Given the description of an element on the screen output the (x, y) to click on. 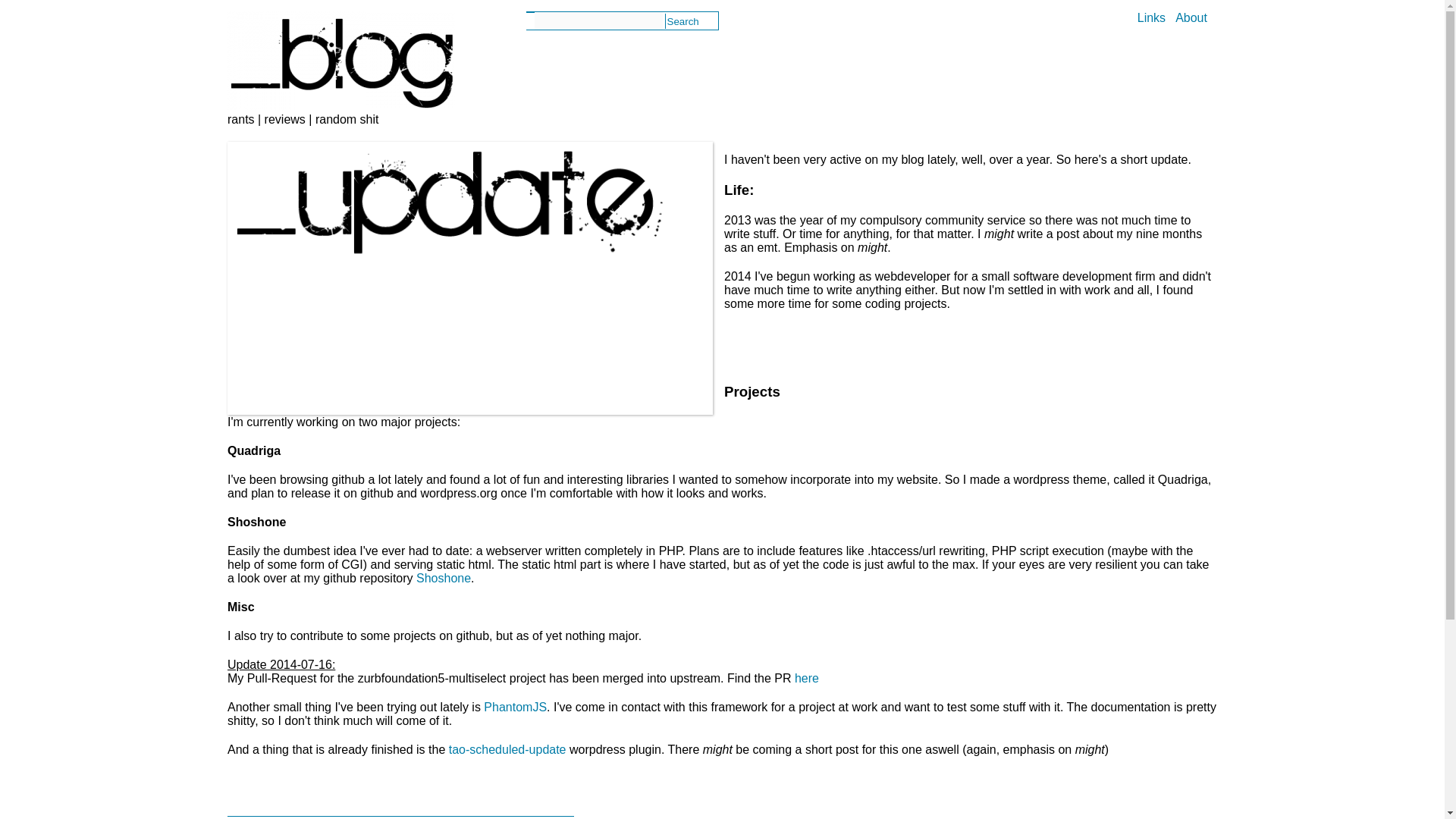
Search (682, 21)
PhantomJS (515, 707)
Shoshone Webserver (443, 577)
Links (1151, 17)
TAO Scheduled Update (507, 748)
Search (682, 21)
About (1190, 17)
PhantomJS (515, 707)
tao-scheduled-update (507, 748)
Search (682, 21)
Shoshone (443, 577)
Search for: (598, 20)
here (806, 677)
